Given the description of an element on the screen output the (x, y) to click on. 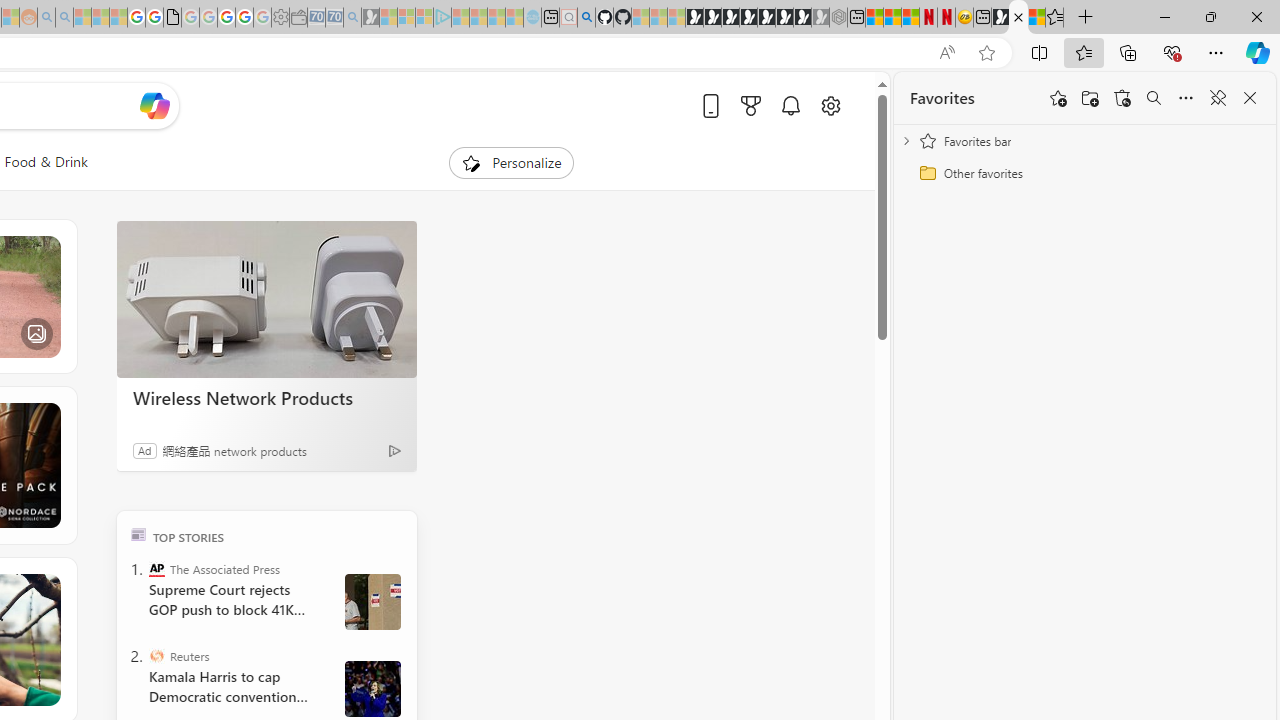
Close favorites (1250, 98)
Wireless Network Products (266, 299)
